Given the description of an element on the screen output the (x, y) to click on. 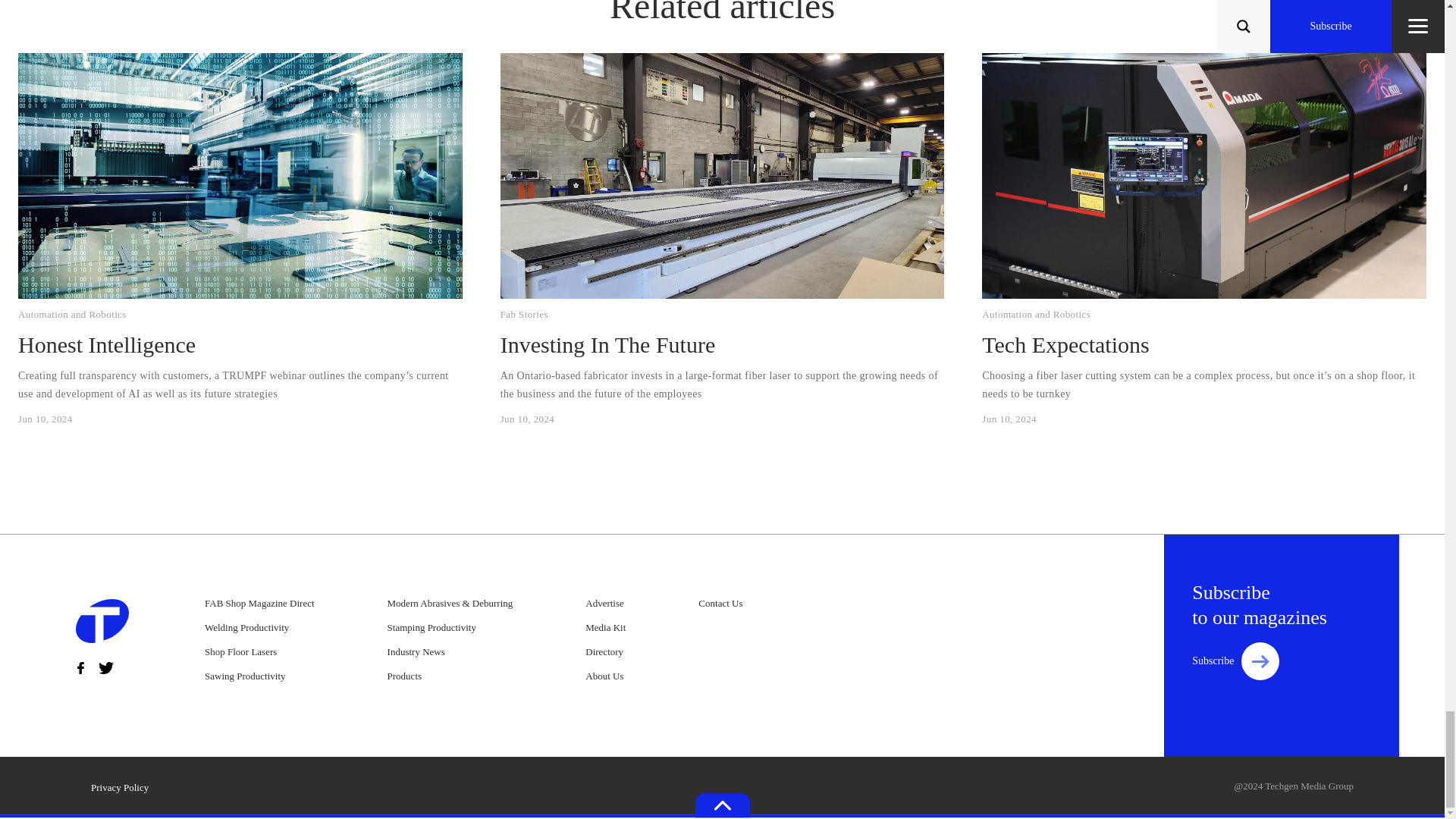
Back to the homepage (102, 624)
